Given the description of an element on the screen output the (x, y) to click on. 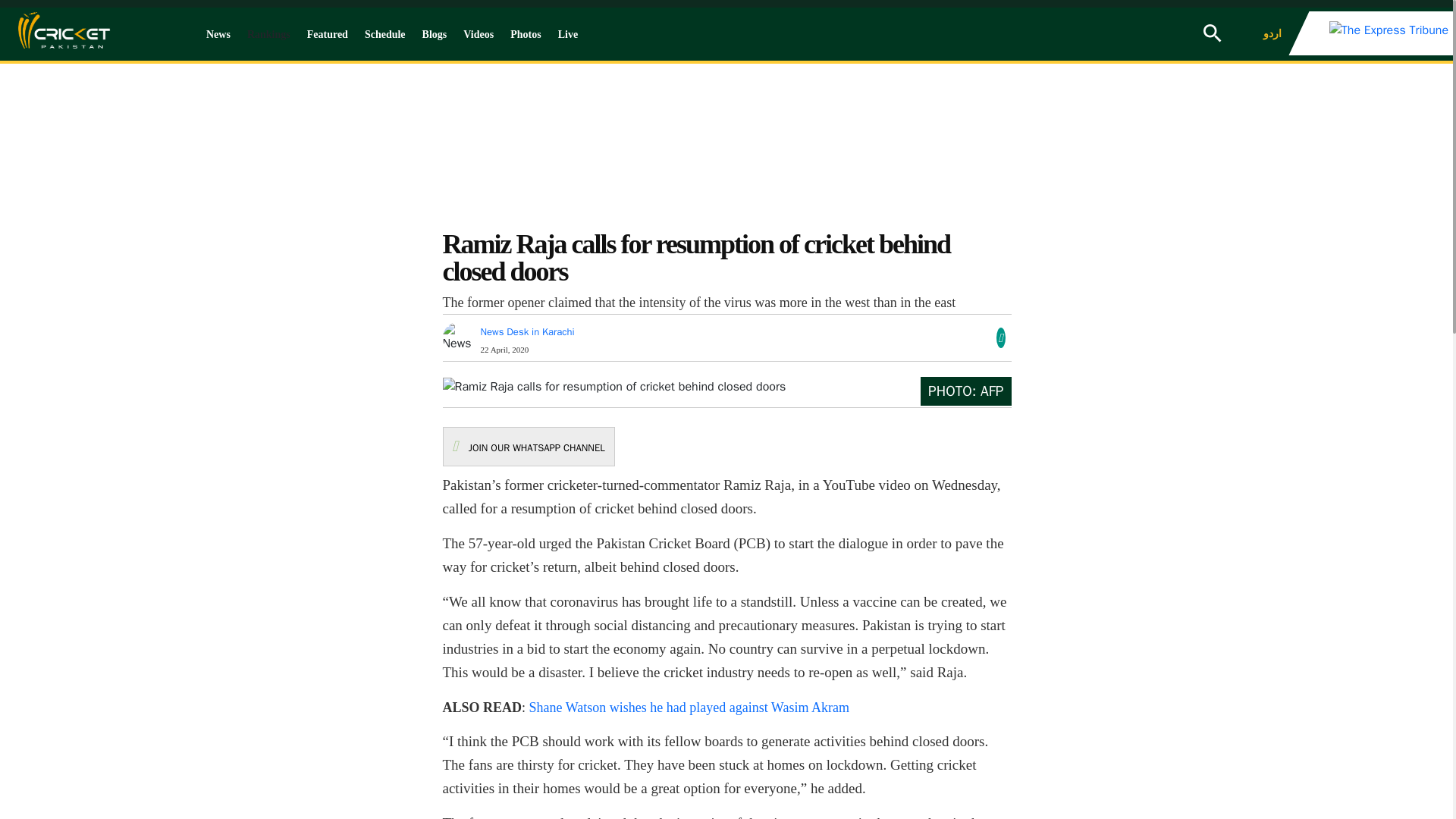
Photos (525, 34)
Schedule (384, 34)
Featured (327, 34)
Videos (477, 34)
Rankings (269, 34)
